Given the description of an element on the screen output the (x, y) to click on. 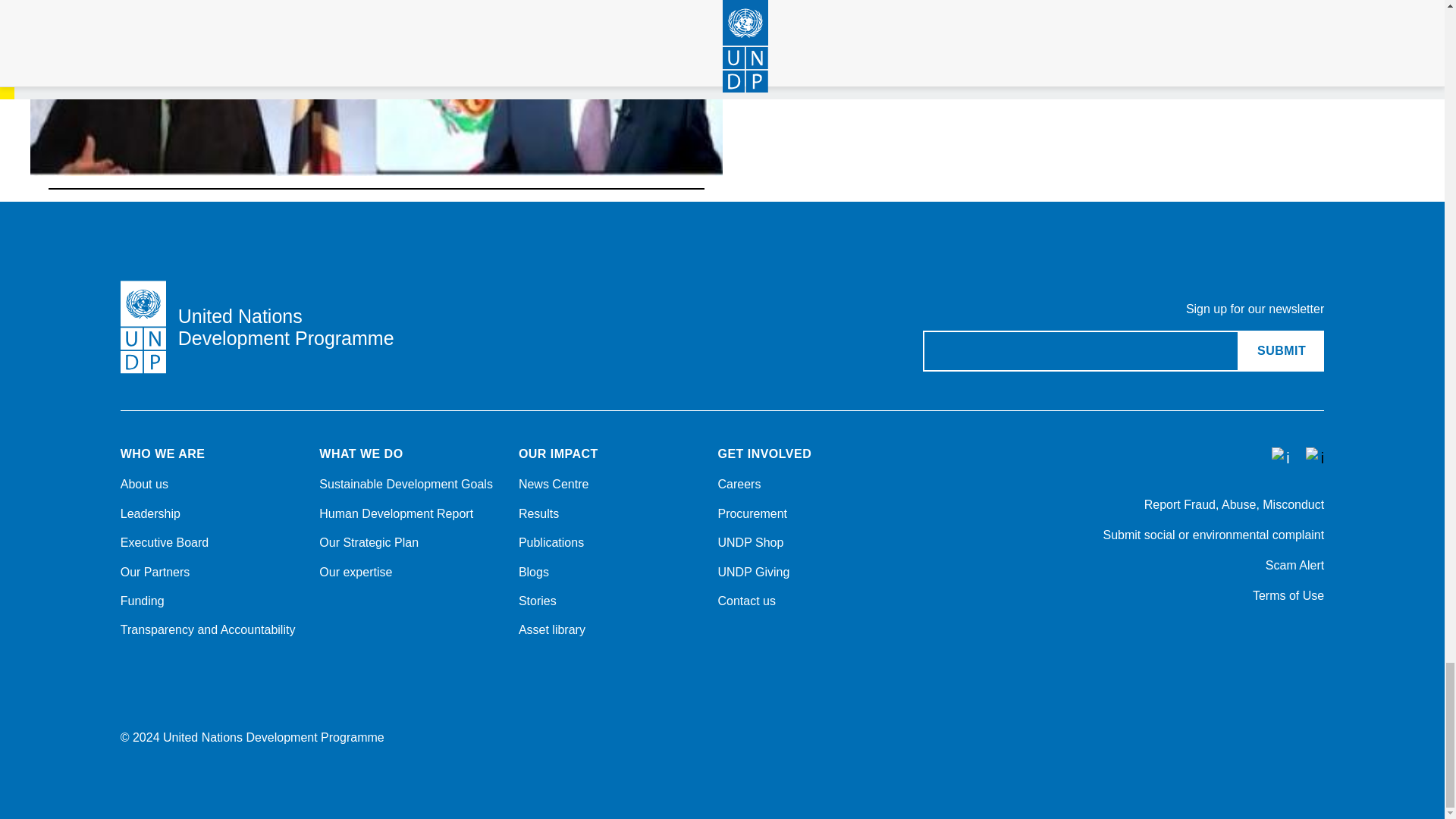
X (1119, 636)
Linkedin (1158, 636)
Facebook (1198, 636)
Submit (1281, 350)
Instagram (1237, 636)
YouTube (1276, 636)
